Given the description of an element on the screen output the (x, y) to click on. 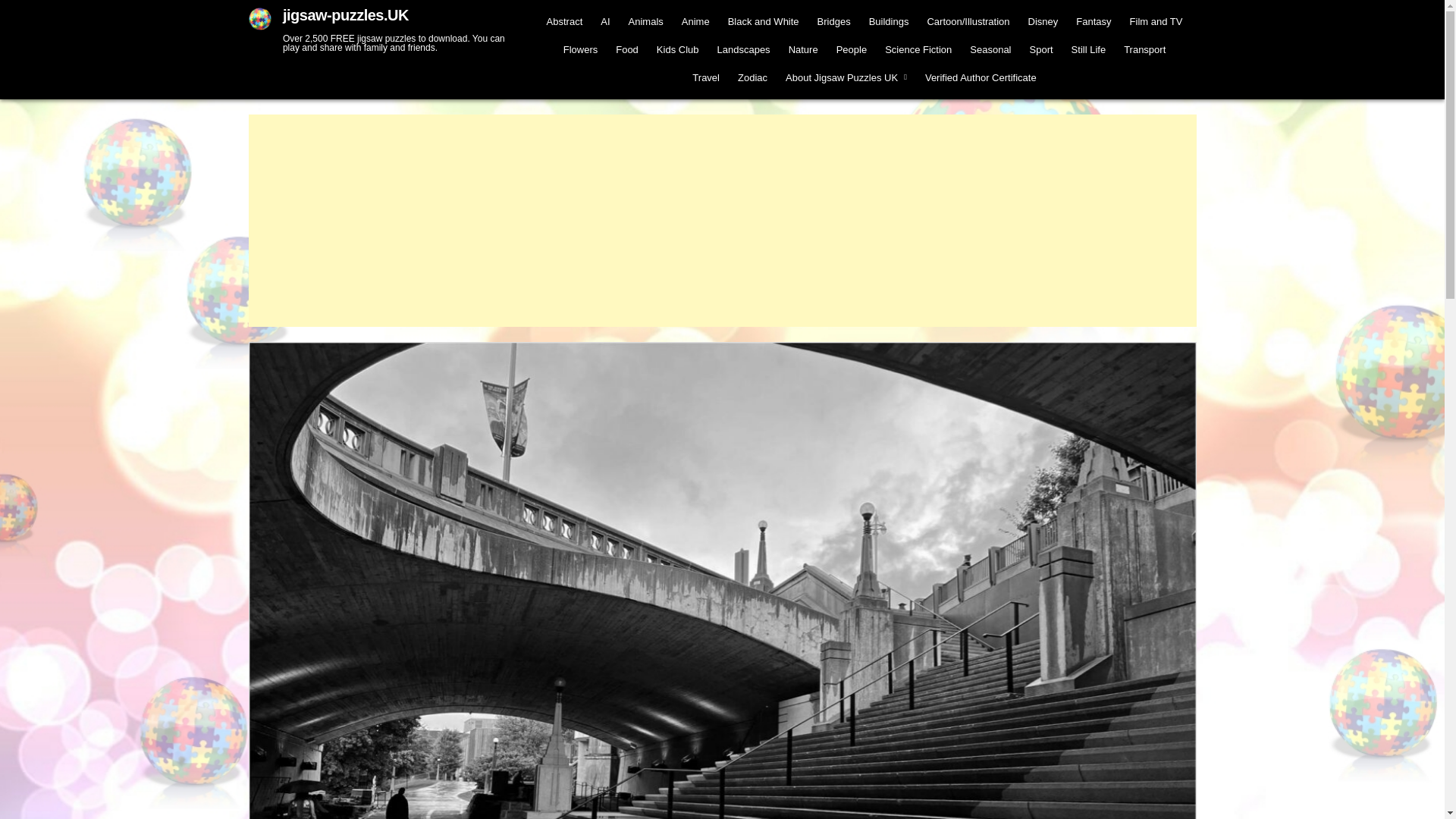
Bridges (834, 21)
Abstract (564, 21)
Sport (1041, 49)
Seasonal (990, 49)
Black and White (763, 21)
Still Life (1088, 49)
Landscapes (742, 49)
Fantasy (1093, 21)
Buildings (889, 21)
